Given the description of an element on the screen output the (x, y) to click on. 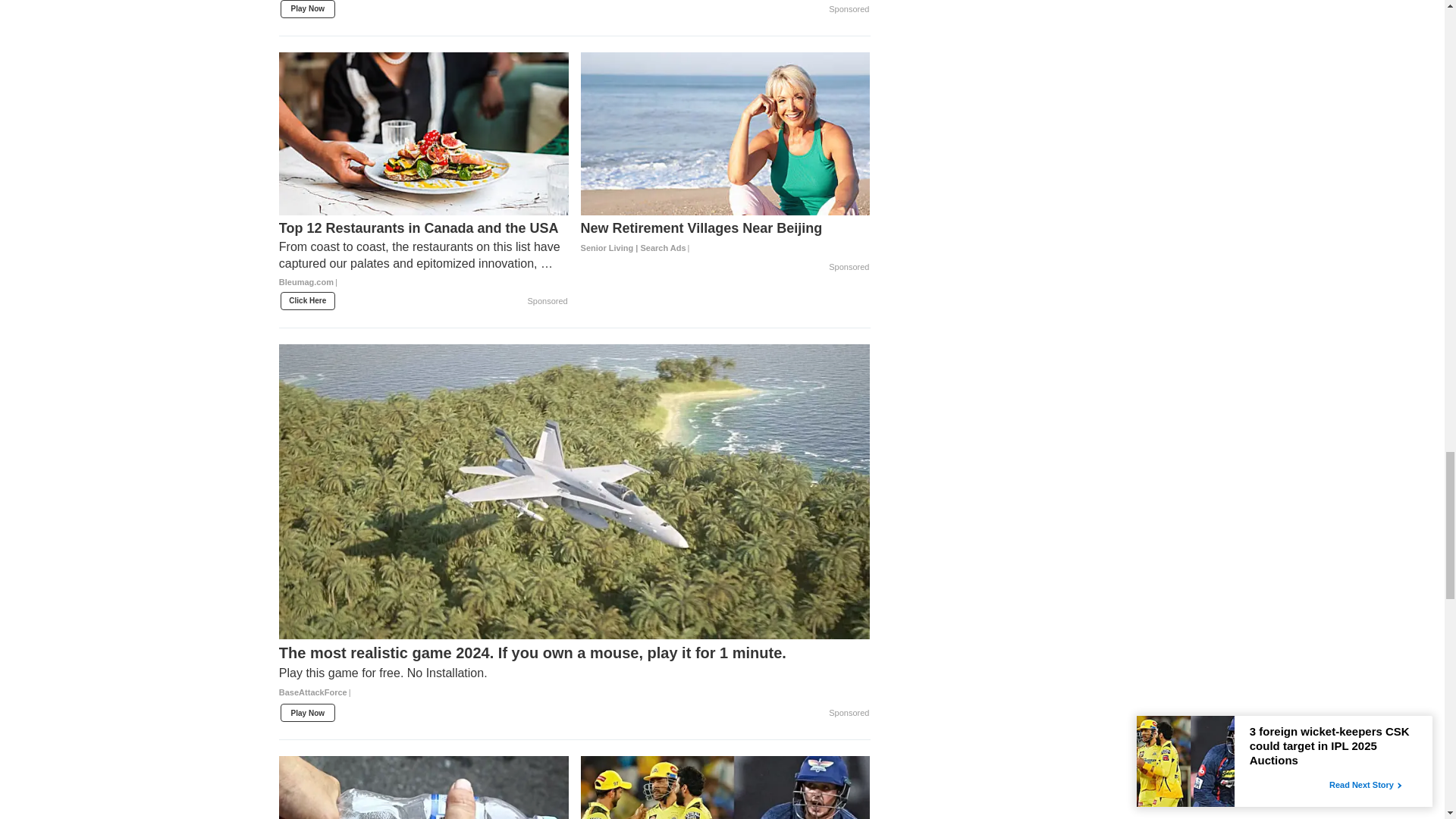
Click Here (307, 300)
Sponsored (547, 301)
Play Now (307, 9)
Sponsored (848, 9)
